Given the description of an element on the screen output the (x, y) to click on. 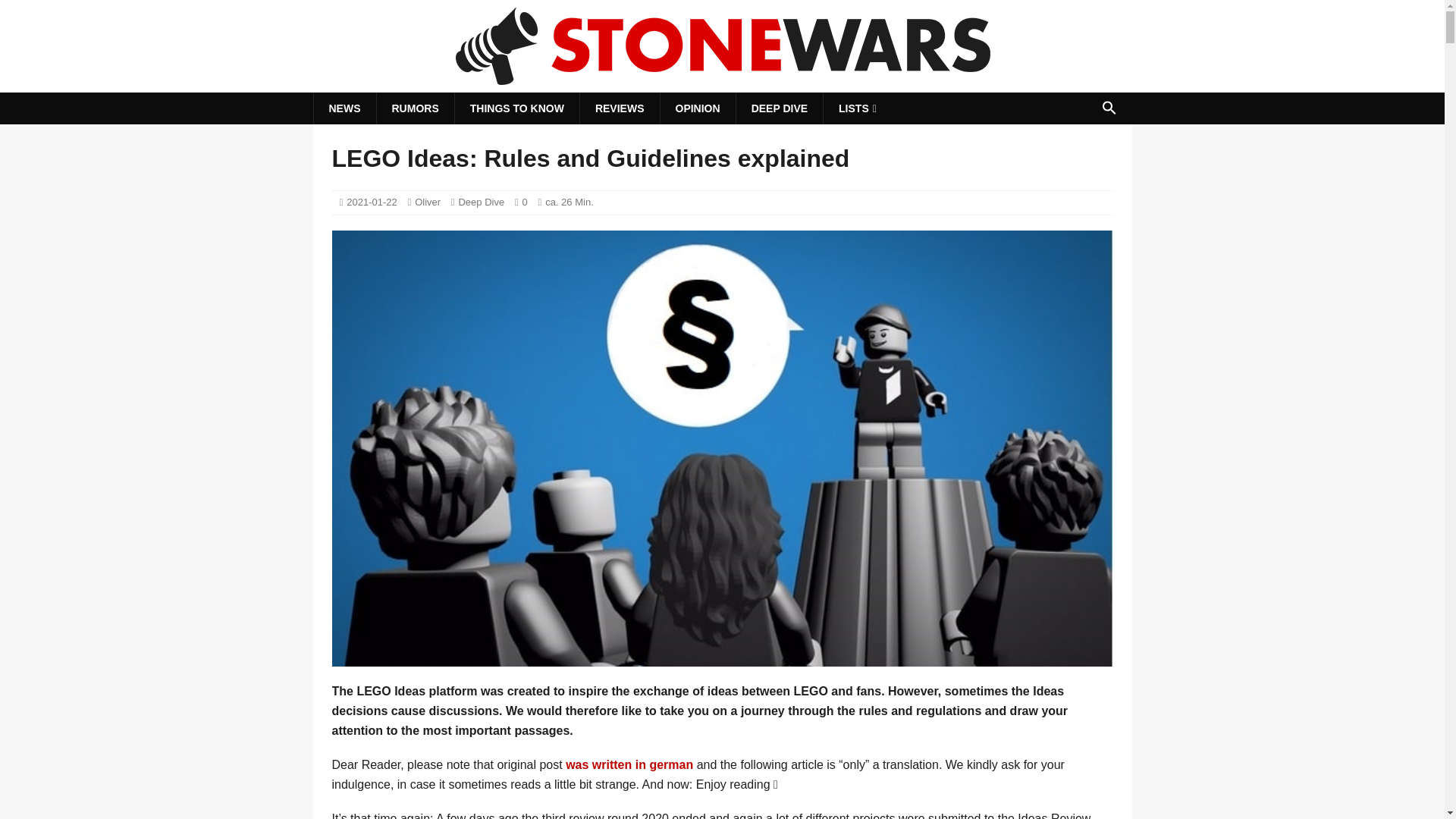
was written in german (629, 764)
2021-01-22 (371, 202)
NEWS (344, 108)
OPINION (697, 108)
Oliver (427, 202)
THINGS TO KNOW (516, 108)
RUMORS (414, 108)
Deep Dive (480, 202)
REVIEWS (619, 108)
StoneWars (722, 82)
